Given the description of an element on the screen output the (x, y) to click on. 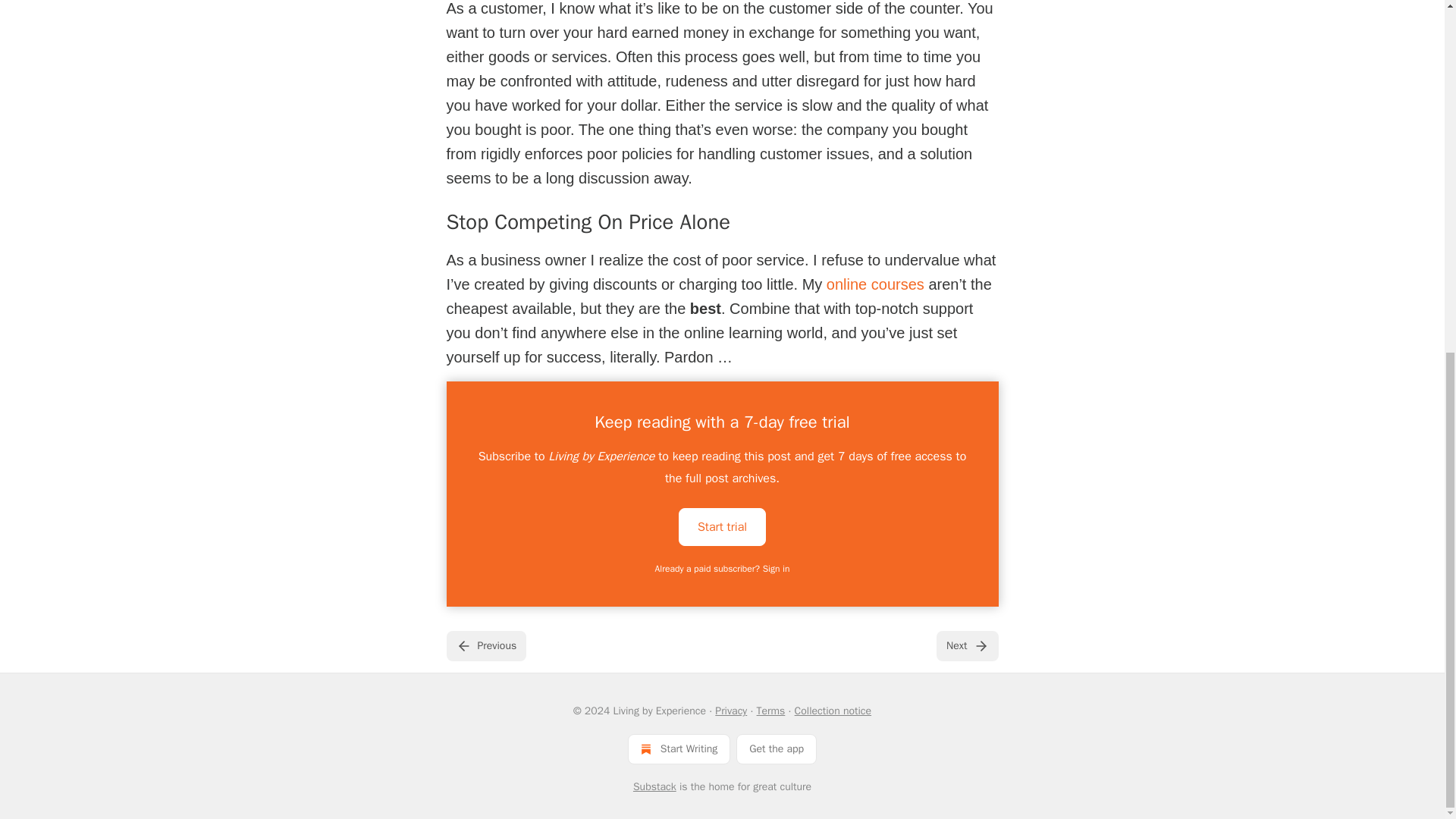
Collection notice (832, 710)
Start trial (721, 526)
Next (966, 645)
Previous (485, 645)
Terms (771, 710)
Privacy (730, 710)
Start trial (721, 525)
Start Writing (678, 748)
Substack (655, 786)
Already a paid subscriber? Sign in (722, 568)
online courses (875, 284)
Get the app (776, 748)
